Given the description of an element on the screen output the (x, y) to click on. 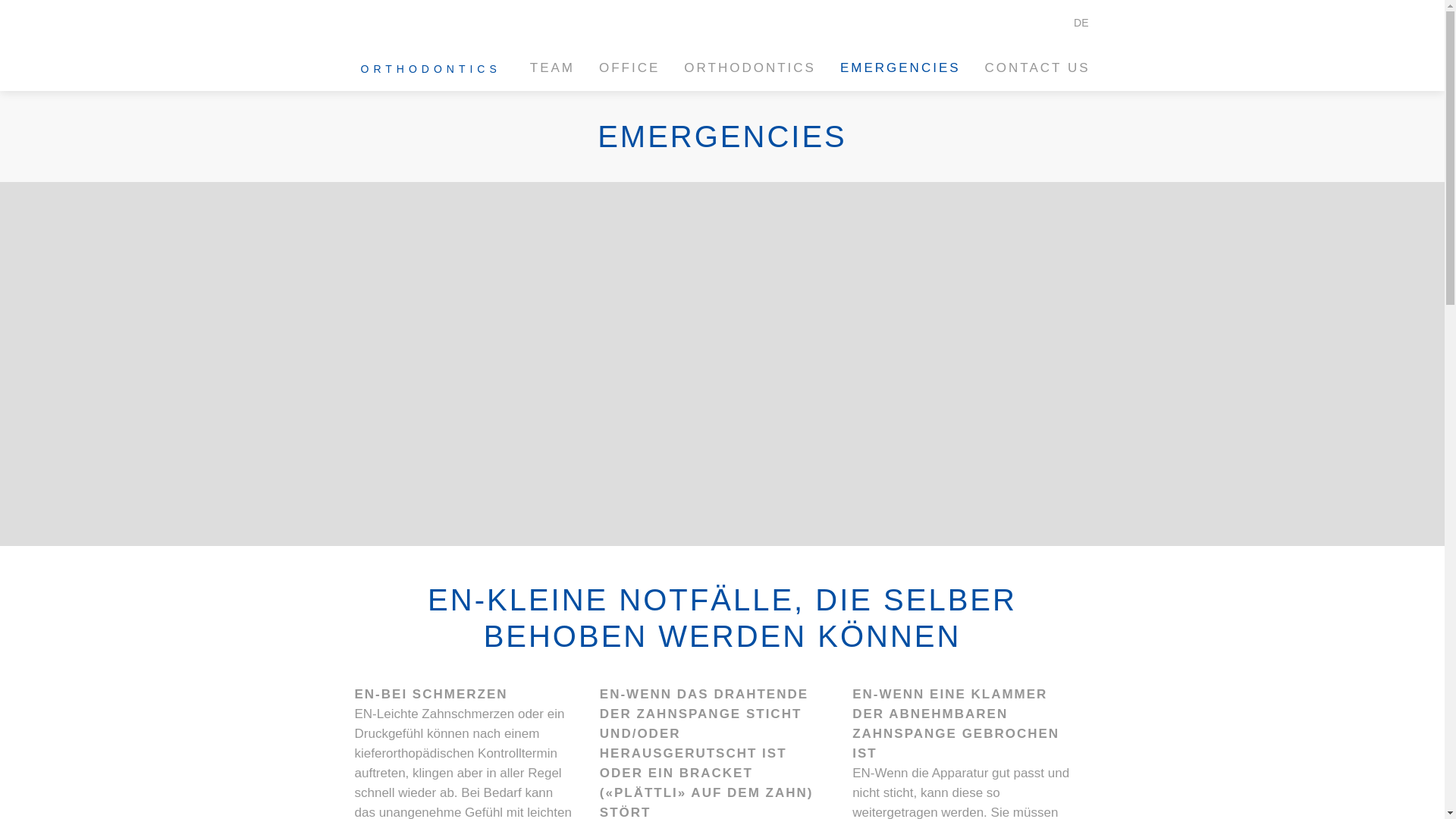
DE Element type: text (1071, 22)
OFFICE Element type: text (628, 68)
ORTHODONTICS Element type: text (423, 45)
EMERGENCIES Element type: text (900, 68)
TEAM Element type: text (551, 68)
CONTACT US Element type: text (1031, 68)
ORTHODONTICS Element type: text (749, 68)
